Given the description of an element on the screen output the (x, y) to click on. 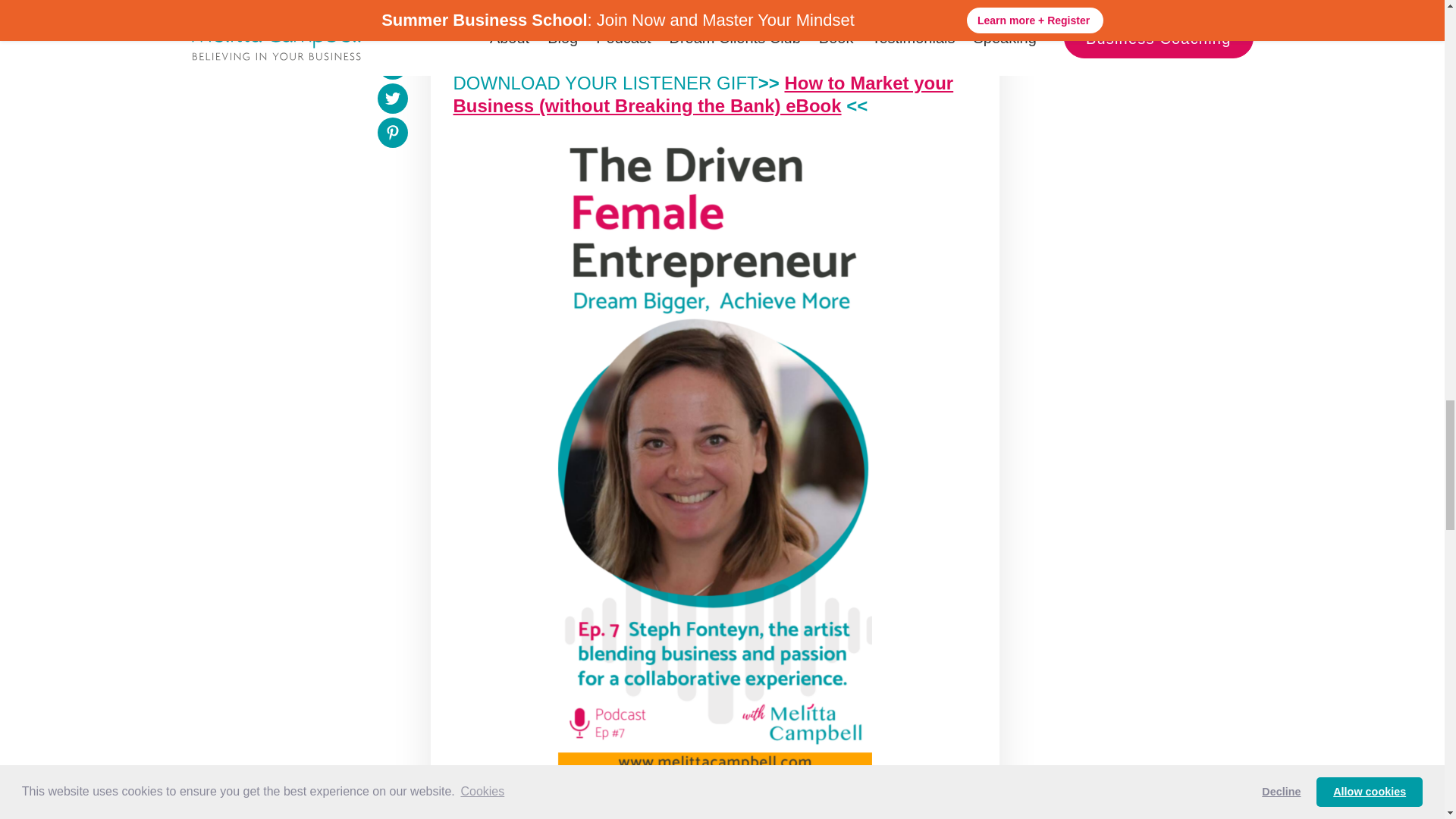
Inspiration (585, 807)
Business (494, 807)
Small business (775, 807)
Lessons (672, 807)
Success (876, 807)
